Given the description of an element on the screen output the (x, y) to click on. 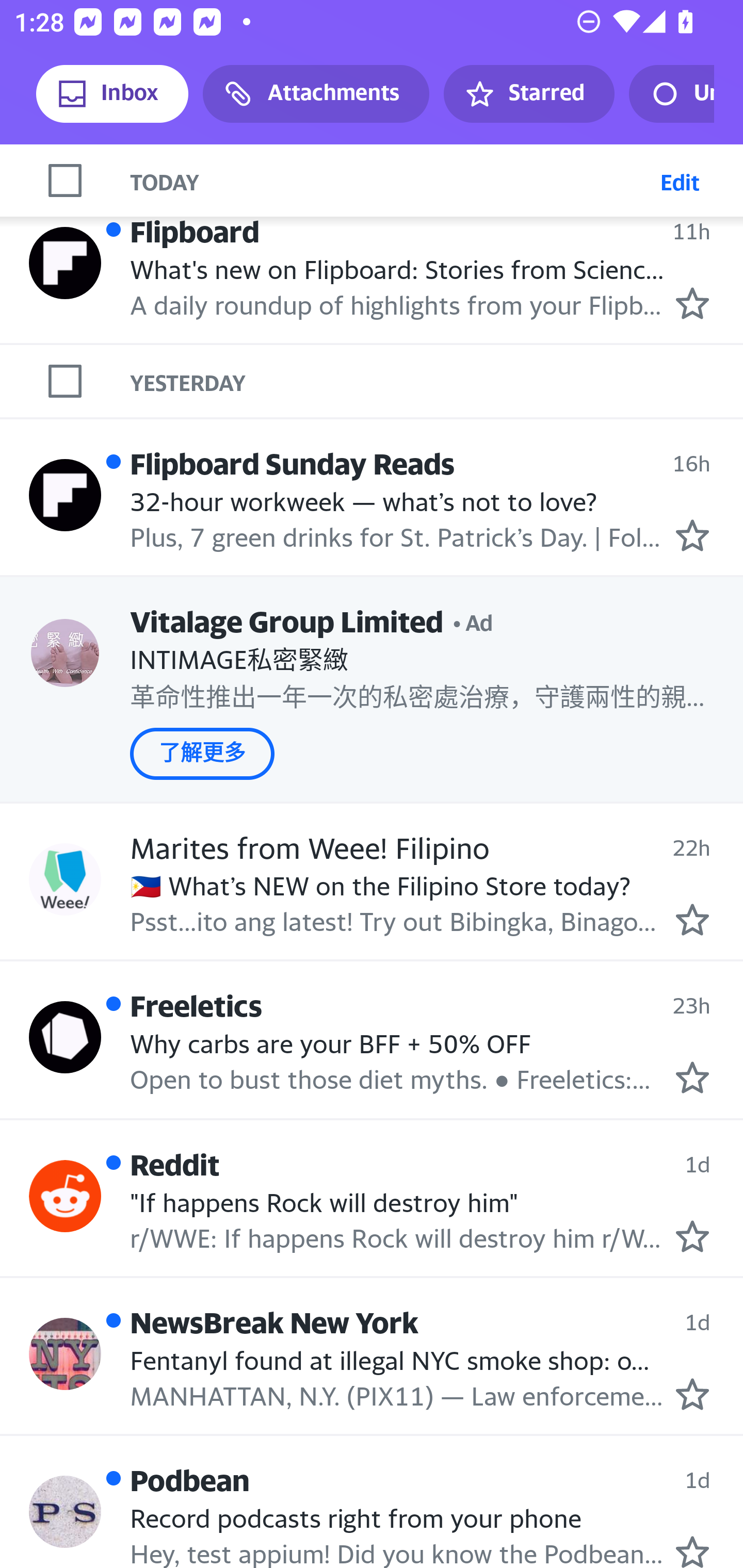
Attachments (315, 93)
Starred (528, 93)
Profile
Flipboard (64, 263)
Mark as starred. (692, 303)
YESTERDAY (436, 381)
Profile
Flipboard Sunday Reads (64, 495)
Mark as starred. (692, 535)
Profile
Marites from Weee! Filipino (64, 879)
Mark as starred. (692, 919)
Profile
Freeletics (64, 1037)
Mark as starred. (692, 1077)
Profile
Reddit (64, 1196)
Mark as starred. (692, 1236)
Profile
NewsBreak New York (64, 1353)
Mark as starred. (692, 1394)
Profile
Podbean (64, 1511)
Mark as starred. (692, 1550)
